Given the description of an element on the screen output the (x, y) to click on. 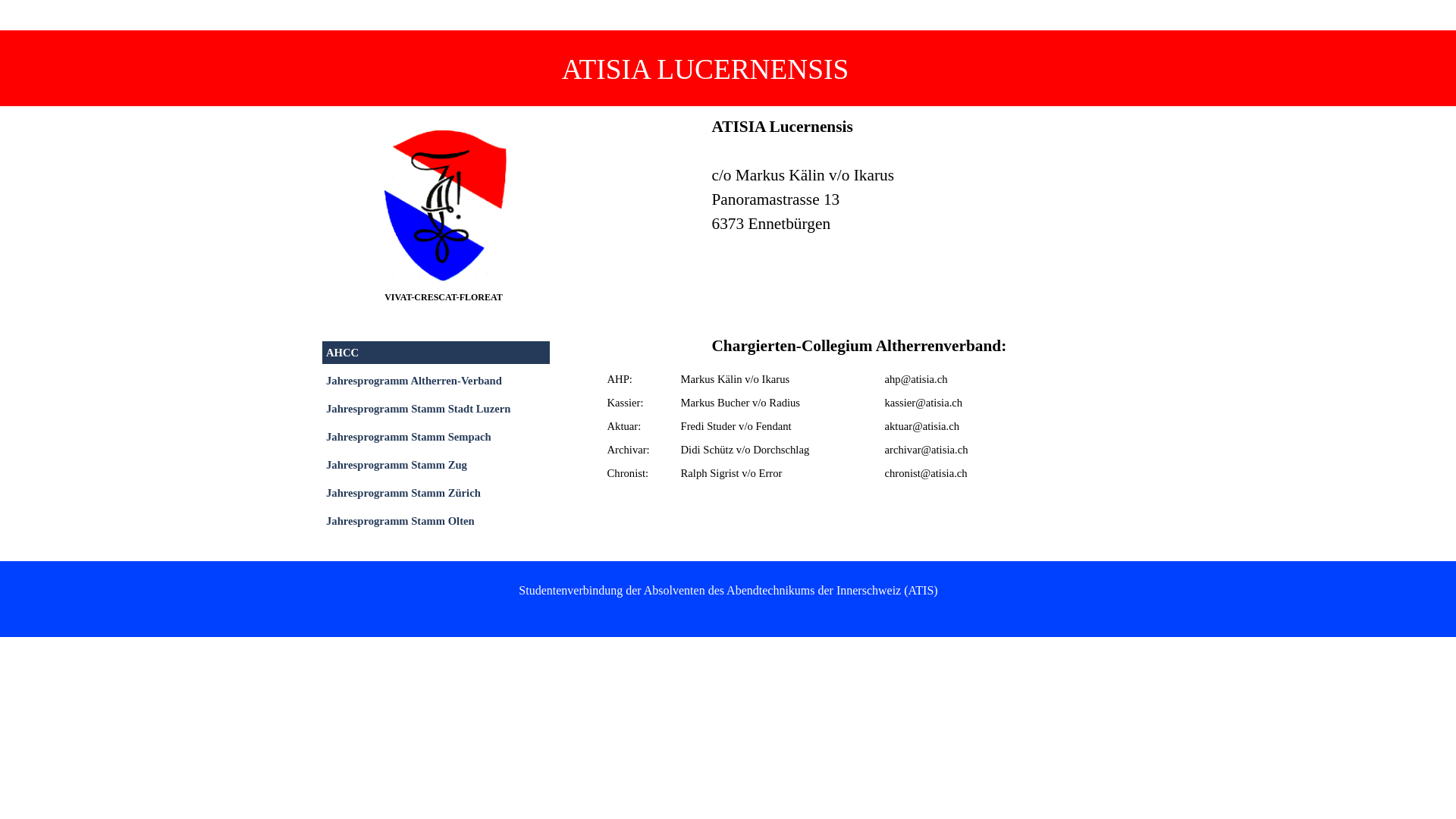
Jahresprogramm Altherren-Verband Element type: text (436, 380)
aktuar@atisia.ch Element type: text (922, 426)
Jahresprogramm Stamm Zug Element type: text (436, 464)
kassier@atisia.ch Element type: text (923, 402)
ahp@atisia.ch Element type: text (915, 379)
Jahresprogramm Stamm Sempach Element type: text (436, 436)
Jahresprogramm Stamm Stadt Luzern Element type: text (436, 408)
chronist@atisia.ch Element type: text (925, 473)
archivar@atisia.ch Element type: text (926, 449)
Jahresprogramm Stamm Olten Element type: text (436, 520)
AHCC Element type: text (436, 352)
